Given the description of an element on the screen output the (x, y) to click on. 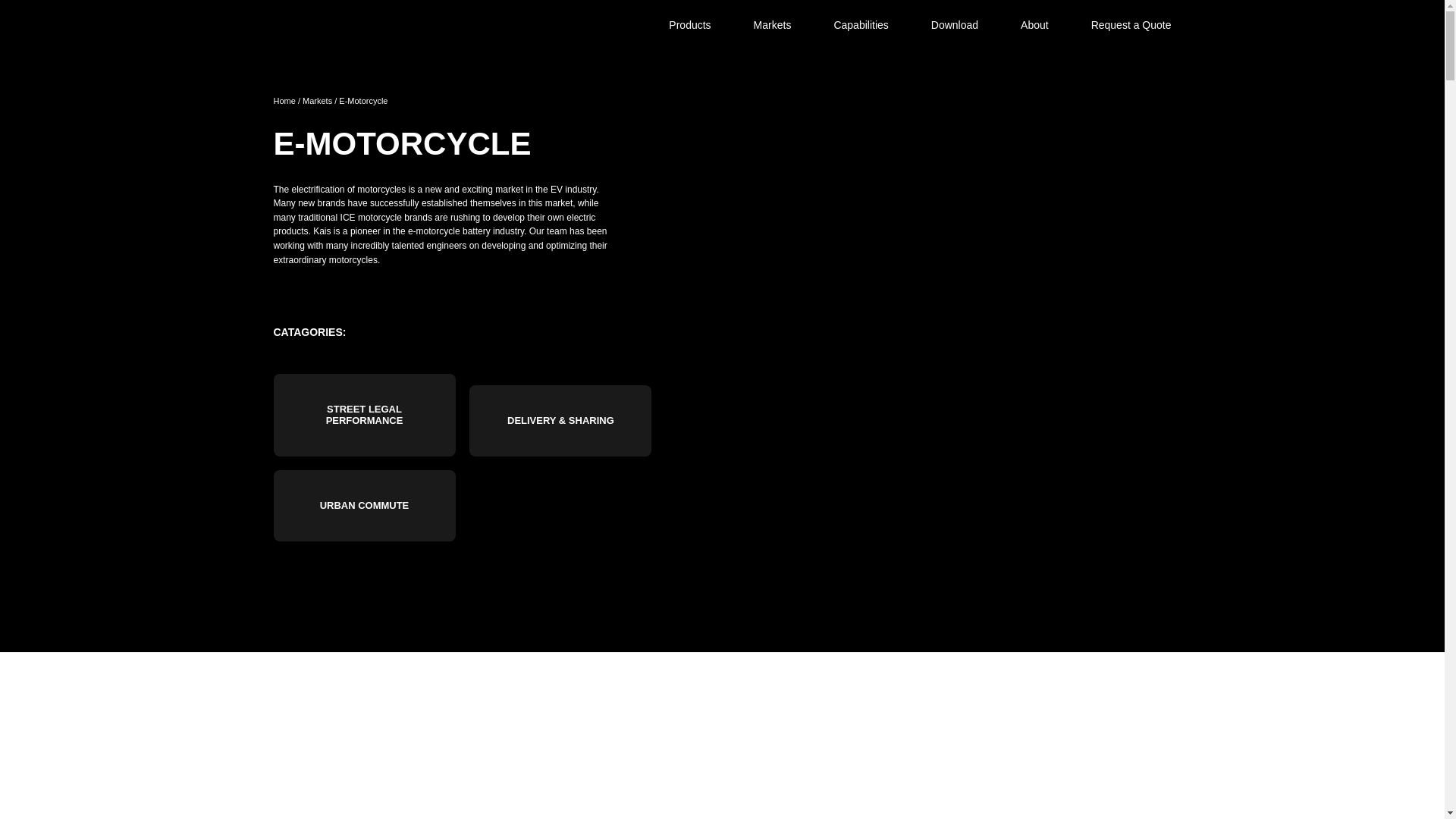
Capabilities (860, 25)
Skip to content (433, 5)
Markets (772, 25)
KAIS (330, 25)
Products (689, 25)
Skip to content (433, 5)
